Given the description of an element on the screen output the (x, y) to click on. 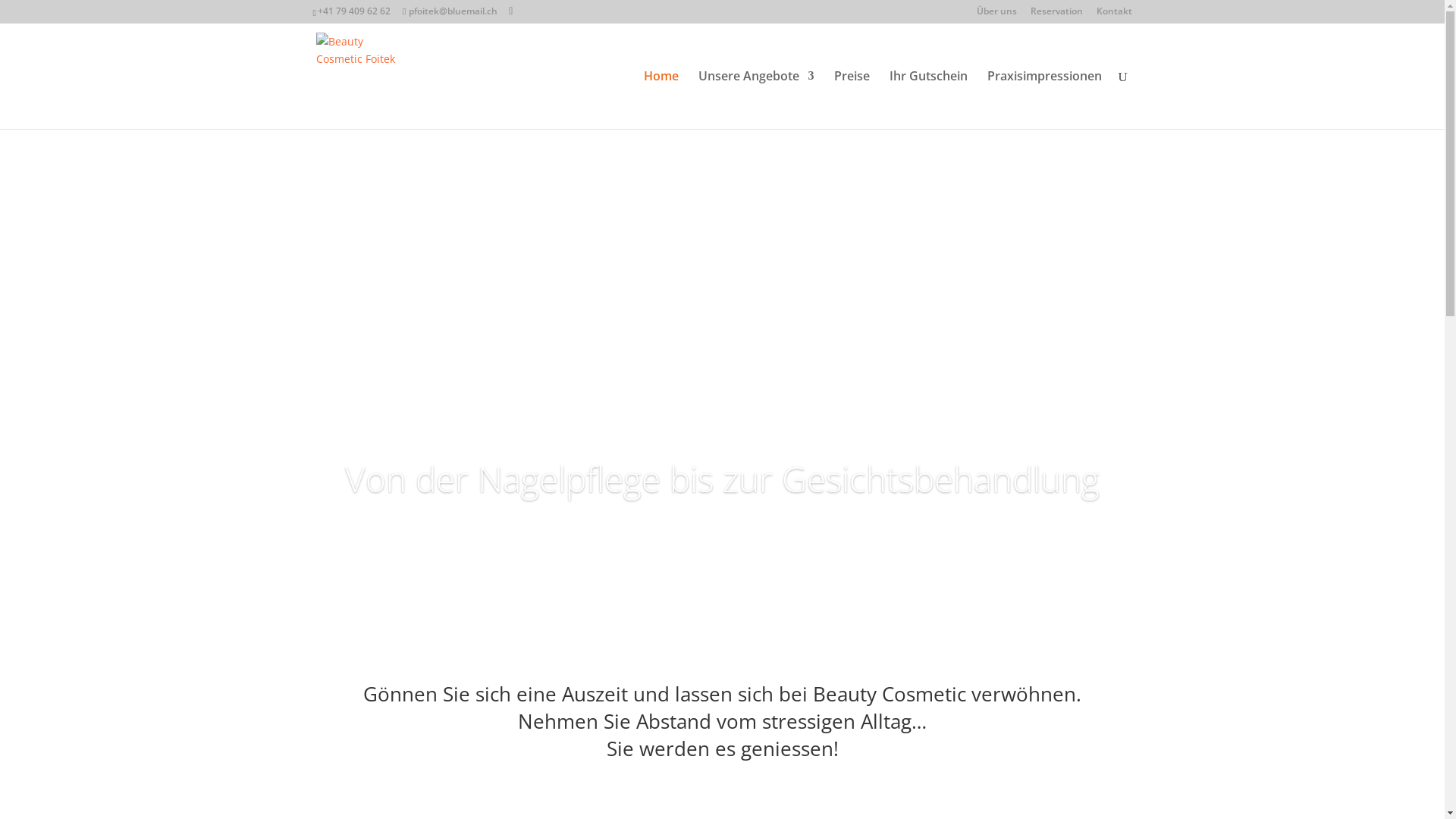
Home Element type: text (660, 99)
Reservation Element type: text (1055, 14)
Ihr Gutschein Element type: text (927, 99)
Praxisimpressionen Element type: text (1044, 99)
Unsere Angebote Element type: text (755, 99)
pfoitek@bluemail.ch Element type: text (449, 10)
Kontakt Element type: text (1114, 14)
Preise Element type: text (851, 99)
